Given the description of an element on the screen output the (x, y) to click on. 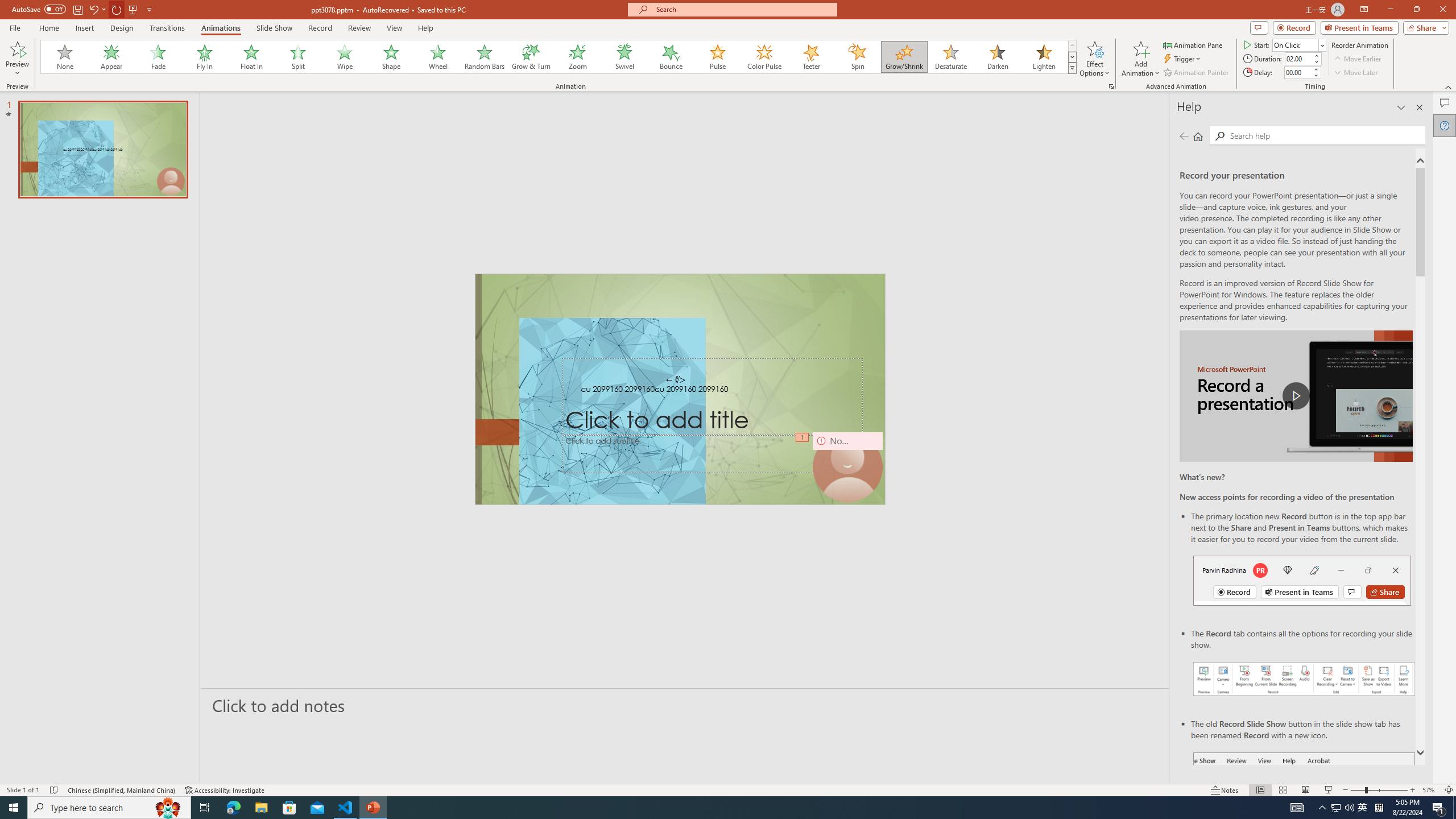
Move Earlier (1357, 58)
Zoom 57% (1430, 790)
Teeter (810, 56)
Grow & Turn (531, 56)
Swivel (624, 56)
Previous page (1183, 136)
